Given the description of an element on the screen output the (x, y) to click on. 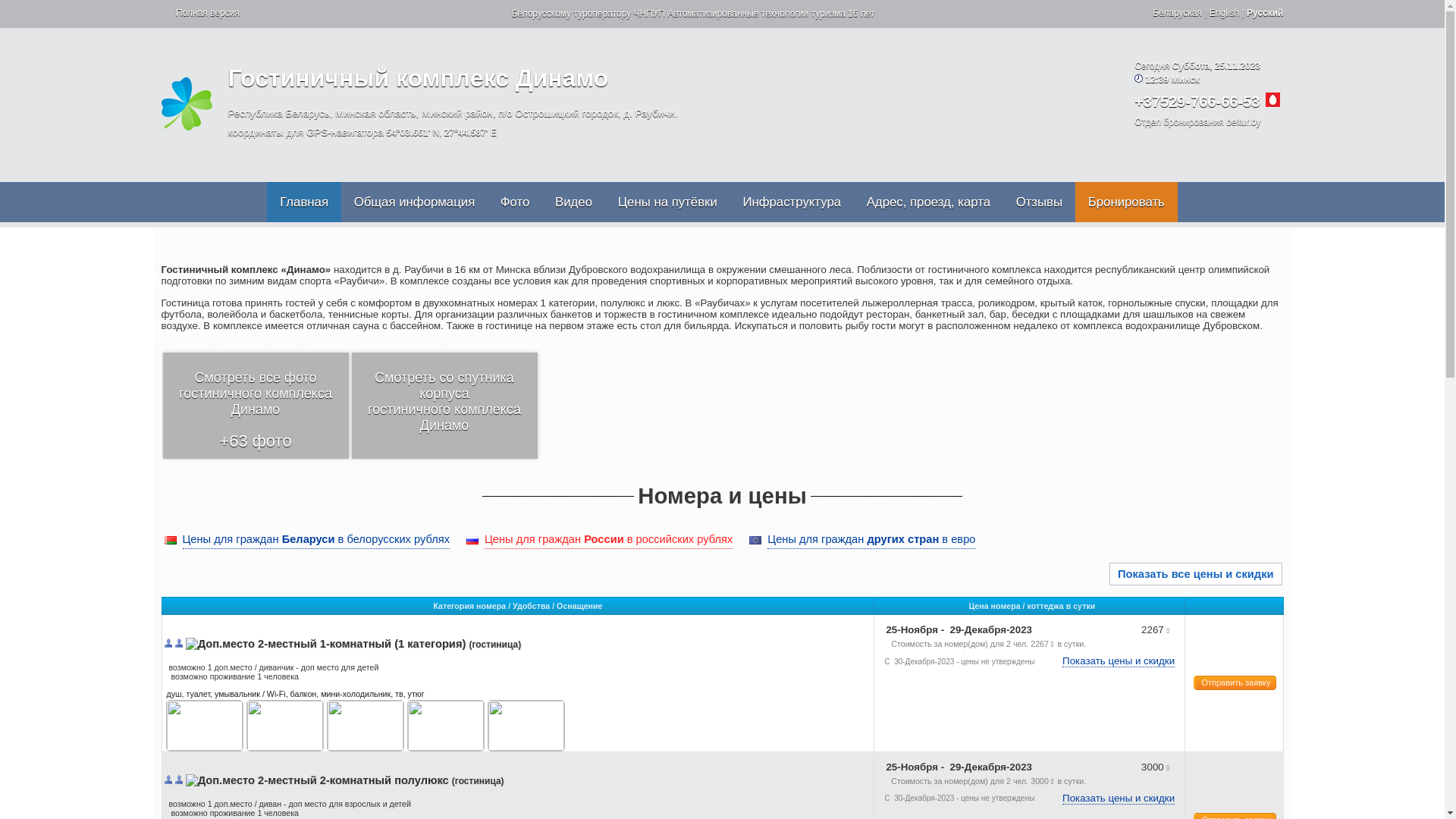
+37529-766-66-53 Element type: text (1196, 101)
English Element type: text (1224, 12)
